Given the description of an element on the screen output the (x, y) to click on. 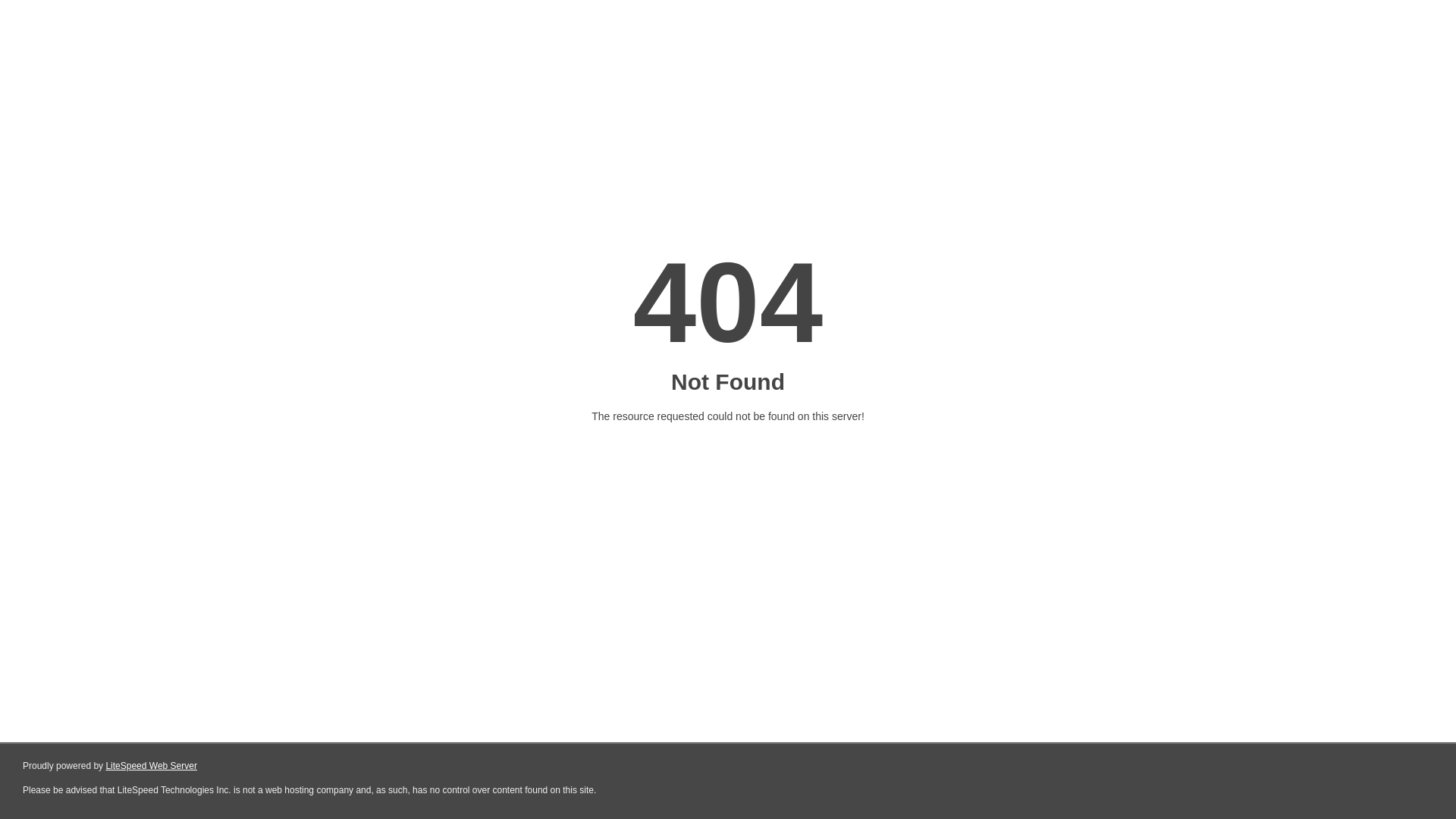
LiteSpeed Web Server Element type: text (151, 765)
